Given the description of an element on the screen output the (x, y) to click on. 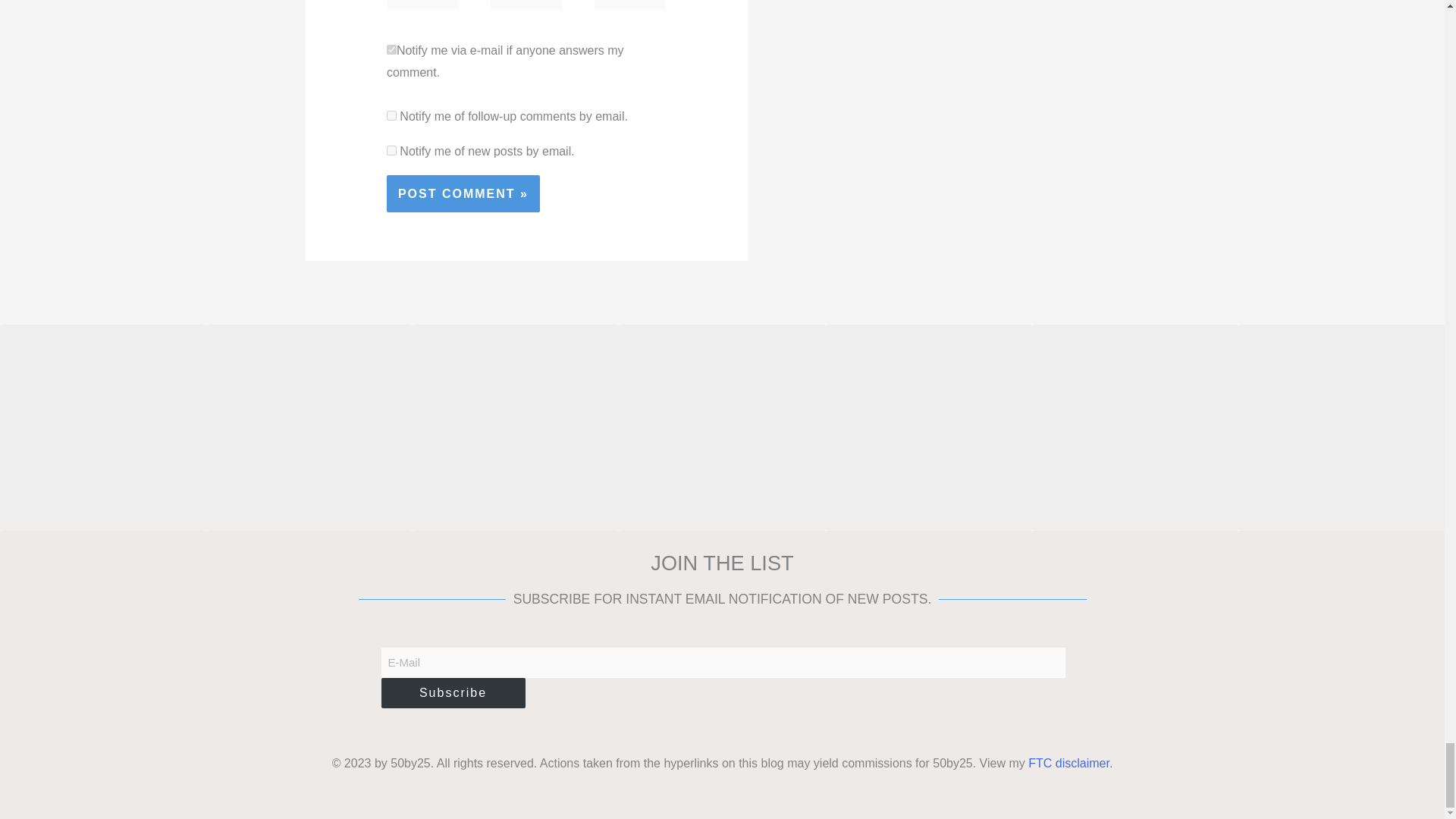
on (391, 49)
subscribe (391, 115)
subscribe (391, 150)
